Given the description of an element on the screen output the (x, y) to click on. 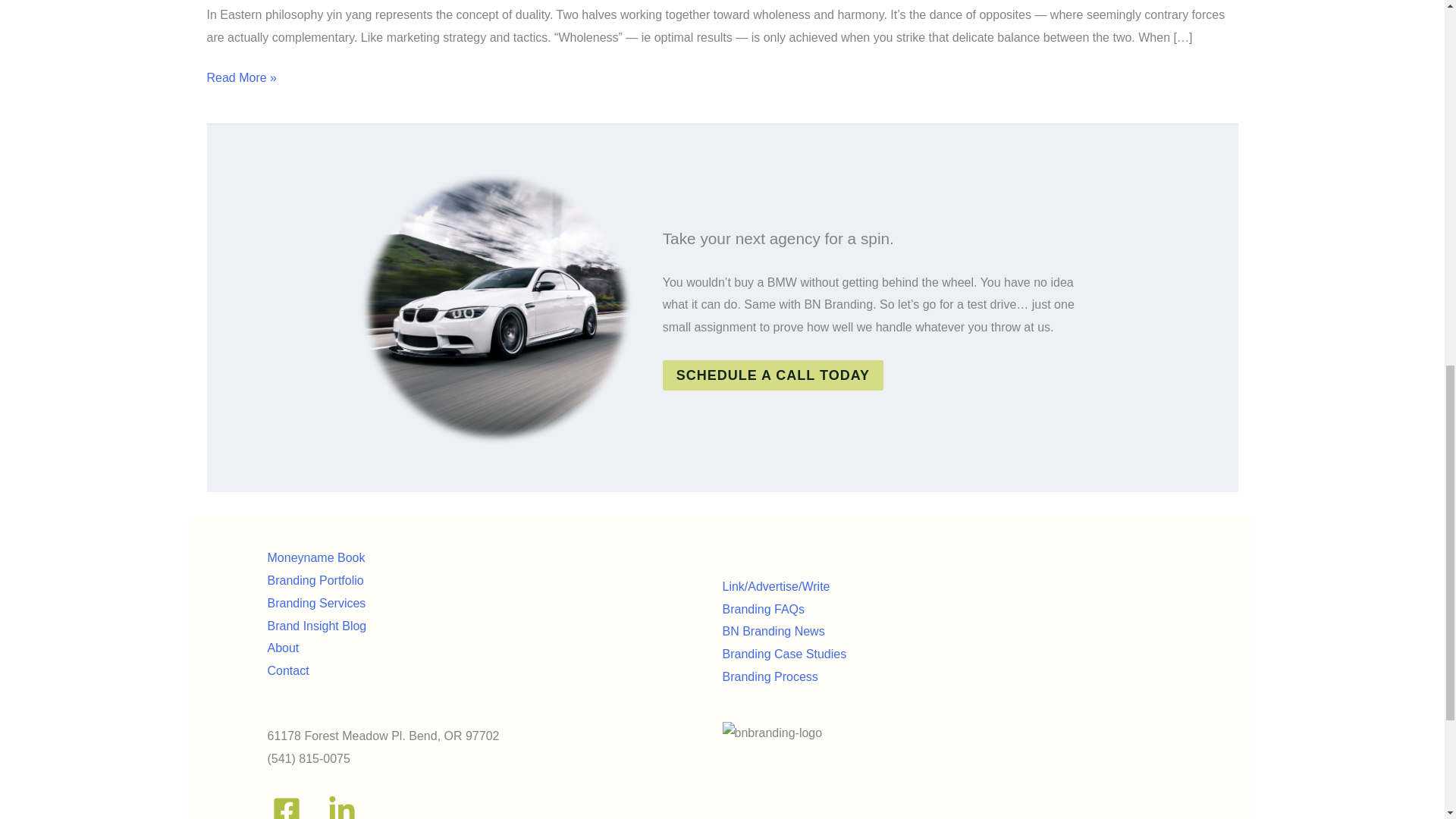
About (282, 647)
SCHEDULE A CALL TODAY (772, 375)
Branding Services (315, 603)
Brand Insight Blog (316, 625)
Branding Portfolio (314, 580)
Contact (287, 670)
Moneyname Book (315, 557)
